Given the description of an element on the screen output the (x, y) to click on. 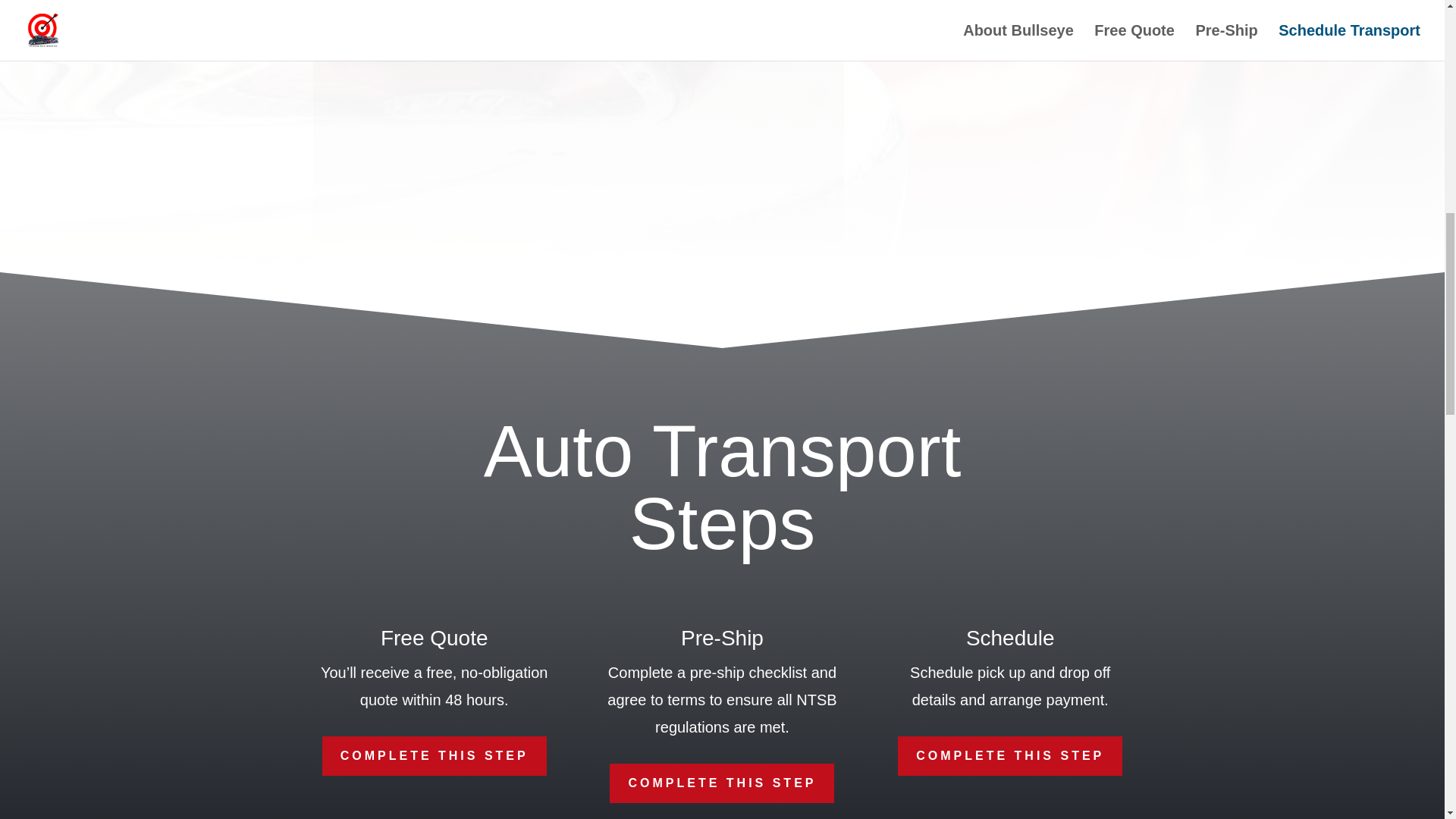
COMPLETE THIS STEP (1010, 756)
COMPLETE THIS STEP (434, 756)
COMPLETE THIS STEP (722, 783)
